Given the description of an element on the screen output the (x, y) to click on. 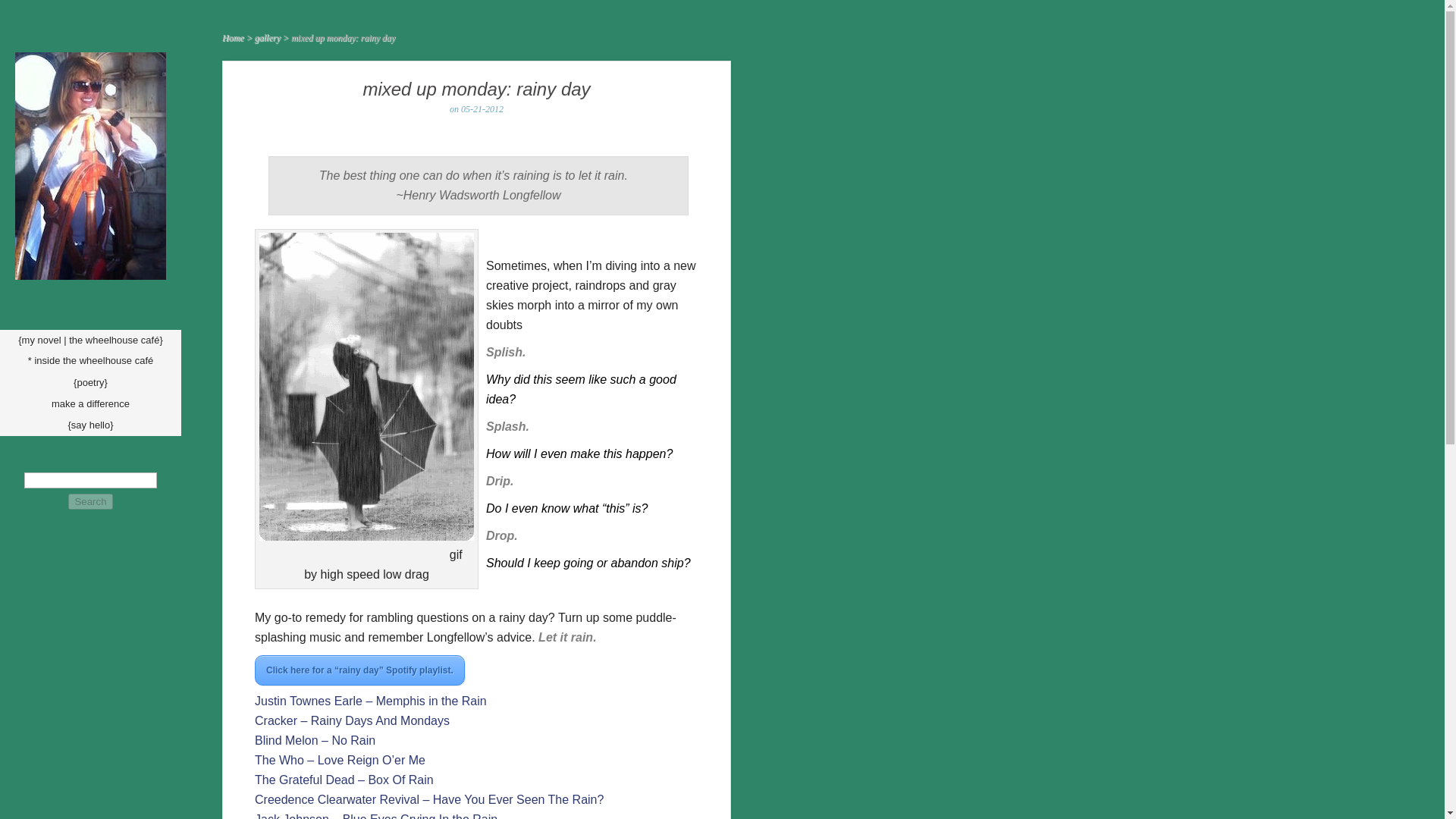
Search (90, 501)
Home (233, 37)
make a difference (90, 403)
Search (90, 501)
gallery (267, 37)
